Given the description of an element on the screen output the (x, y) to click on. 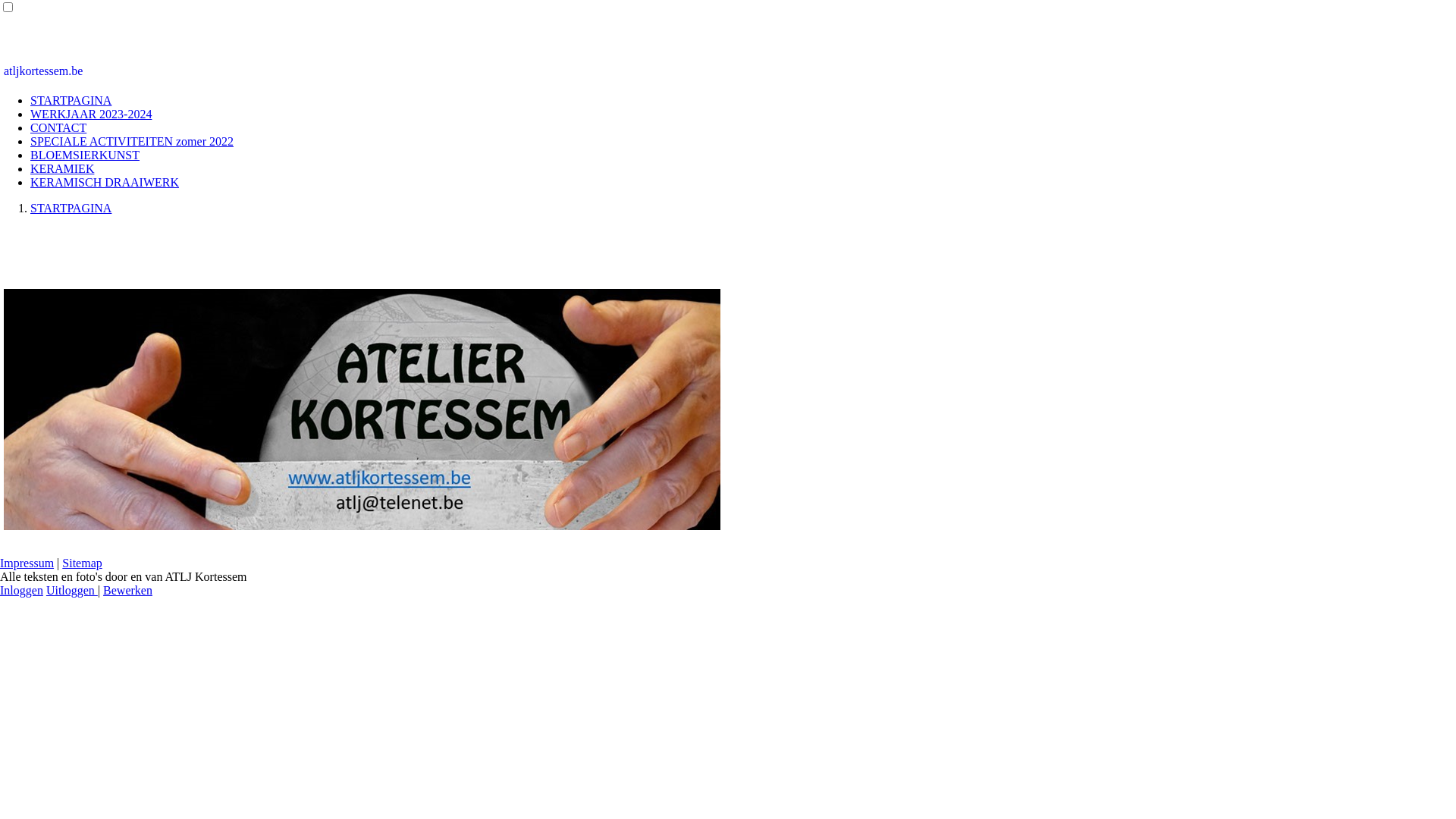
WERKJAAR 2023-2024 Element type: text (90, 113)
BLOEMSIERKUNST Element type: text (84, 154)
KERAMIEK Element type: text (62, 168)
SPECIALE ACTIVITEITEN zomer 2022 Element type: text (131, 140)
Inloggen Element type: text (21, 589)
CONTACT Element type: text (58, 127)
STARTPAGINA Element type: text (70, 100)
STARTPAGINA Element type: text (70, 207)
Sitemap Element type: text (81, 562)
Impressum Element type: text (26, 562)
Uitloggen Element type: text (71, 589)
atljkortessem.be Element type: text (42, 70)
Bewerken Element type: text (127, 589)
KERAMISCH DRAAIWERK Element type: text (104, 181)
